Given the description of an element on the screen output the (x, y) to click on. 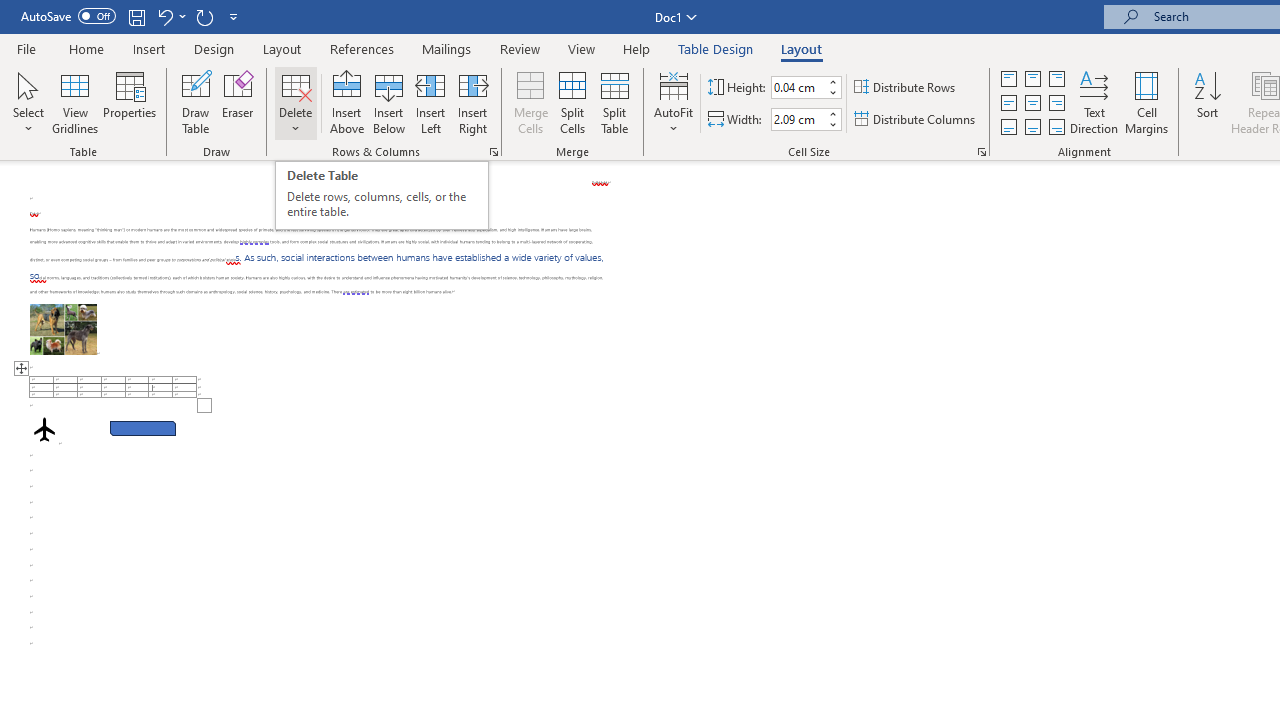
Align Center Right (1056, 103)
Align Center Justified (1009, 103)
Align Top Center (1032, 78)
Align Top Right (1056, 78)
Table Column Width (797, 119)
View Gridlines (75, 102)
Insert Below (388, 102)
Eraser (237, 102)
Insert Above (347, 102)
